Given the description of an element on the screen output the (x, y) to click on. 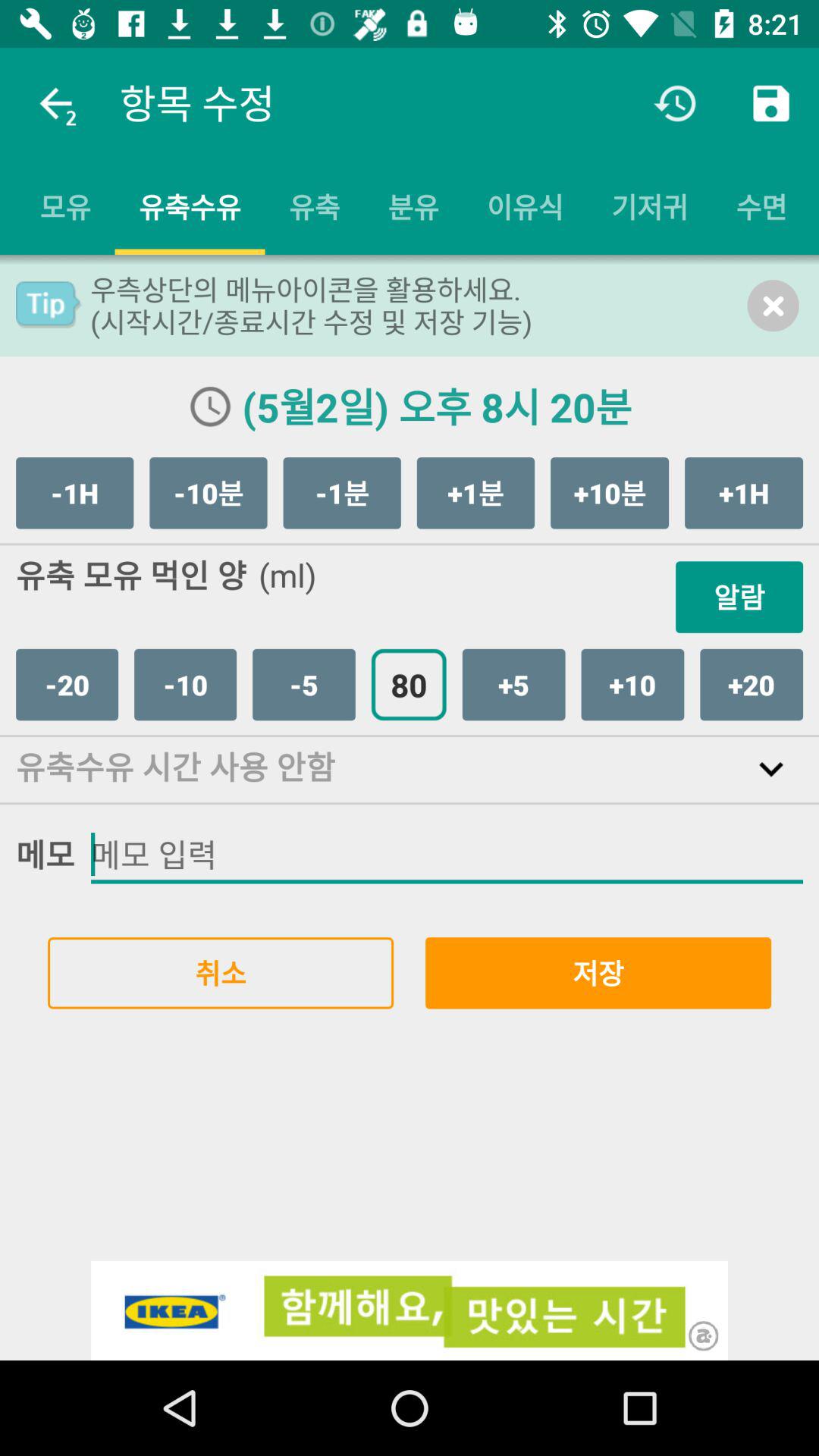
click the item above the +1h (773, 305)
